Given the description of an element on the screen output the (x, y) to click on. 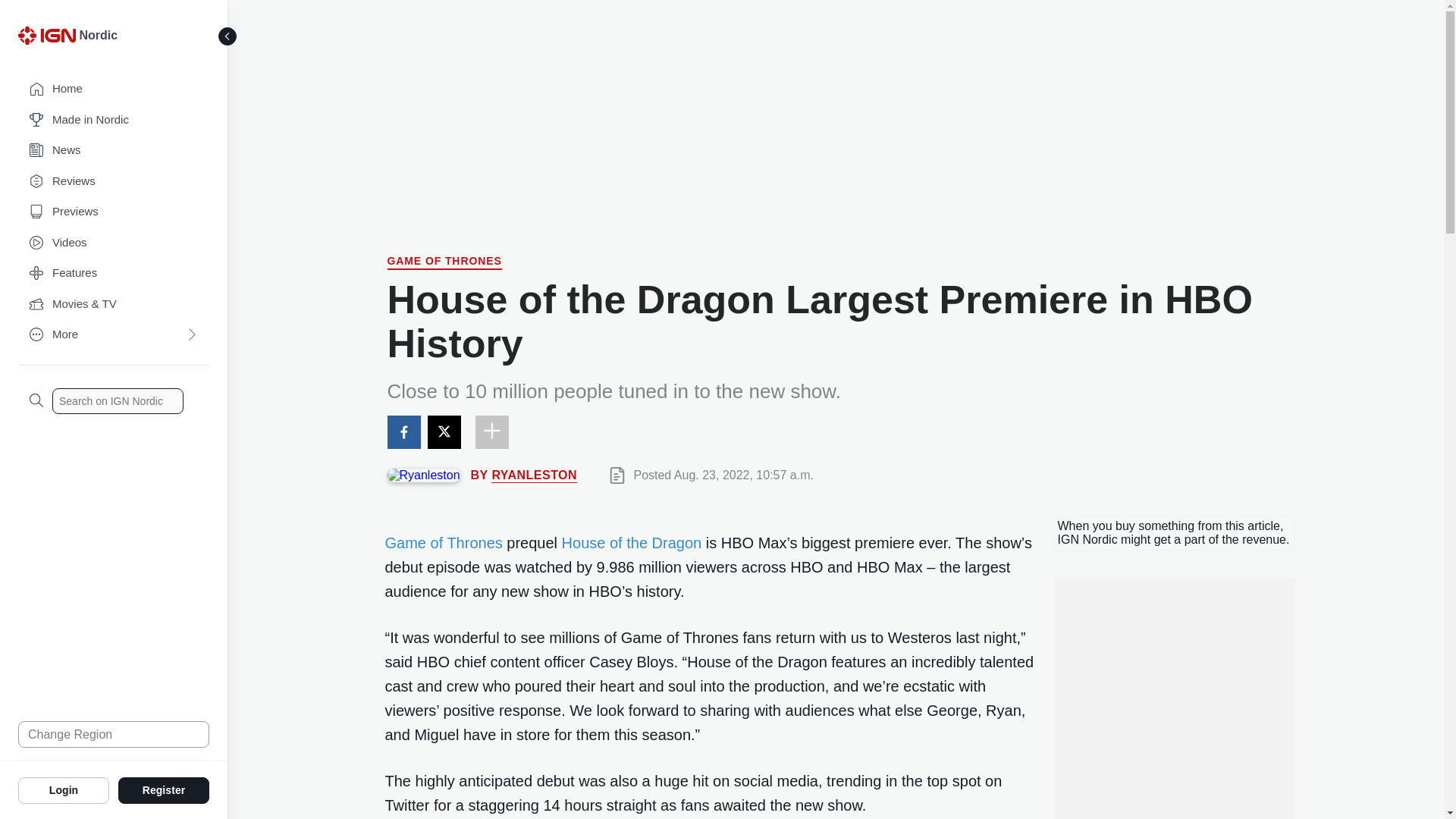
Home (113, 89)
Made in Nordic (113, 119)
IGN Logo (46, 34)
Game of Thrones (443, 542)
Login (63, 789)
Reviews (113, 181)
News (113, 150)
Videos (113, 242)
IGN Logo (48, 39)
GAME OF THRONES (443, 262)
More (113, 334)
RYANLESTON (534, 474)
Previews (113, 211)
Game of Thrones (443, 262)
Features (113, 273)
